Given the description of an element on the screen output the (x, y) to click on. 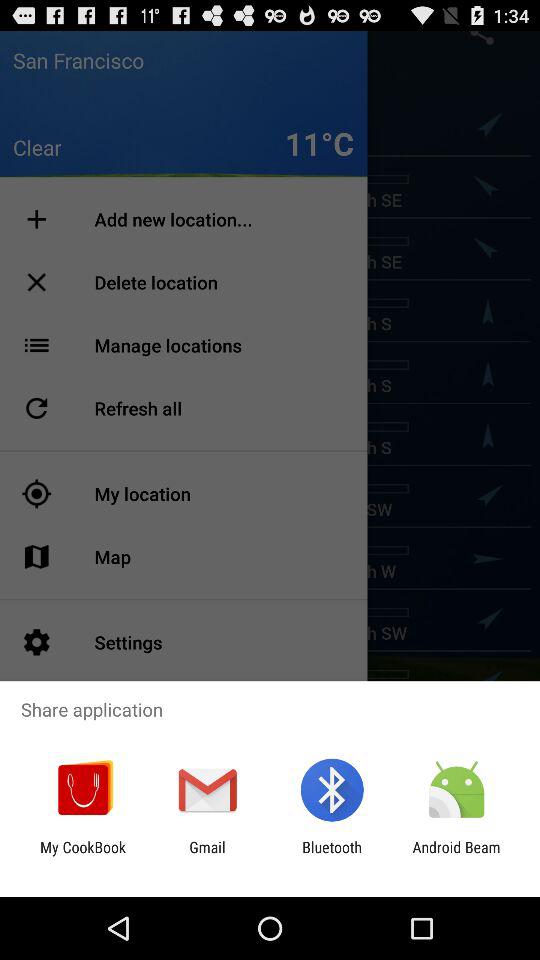
tap icon to the left of bluetooth icon (207, 856)
